Given the description of an element on the screen output the (x, y) to click on. 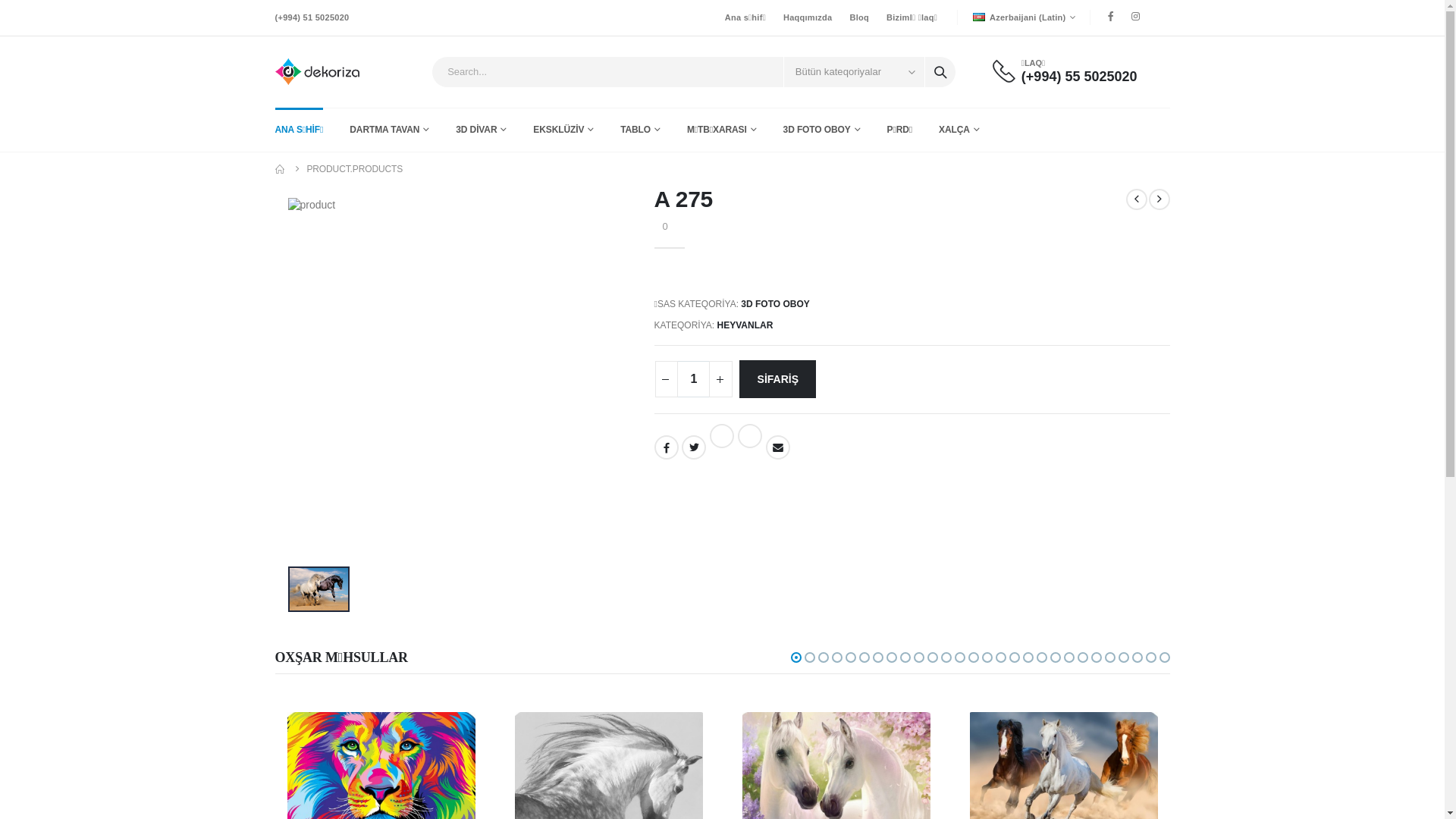
PRODUCT.PRODUCTS Element type: text (354, 168)
(+994) 55 5025020 Element type: text (1079, 76)
Facebook Element type: hover (665, 447)
dot Element type: hover (1041, 657)
dot Element type: hover (1150, 657)
HEYVANLAR Element type: text (745, 325)
0 Element type: text (661, 226)
3D FOTO OBOY Element type: text (774, 303)
dot Element type: hover (1095, 657)
dot Element type: hover (1163, 657)
dot Element type: hover (1068, 657)
dot Element type: hover (1027, 657)
dot Element type: hover (959, 657)
dot Element type: hover (1081, 657)
dot Element type: hover (808, 657)
DARTMA TAVAN Element type: text (389, 129)
dot Element type: hover (931, 657)
dot Element type: hover (849, 657)
dot Element type: hover (890, 657)
search Element type: hover (940, 71)
Mail Element type: hover (777, 447)
dot Element type: hover (1122, 657)
dot Element type: hover (918, 657)
Google + Element type: hover (749, 435)
Bloq Element type: text (859, 17)
dot Element type: hover (822, 657)
Azerbaijani (Latin) Element type: text (1023, 16)
Linkedin Element type: hover (721, 435)
dot Element type: hover (836, 657)
dot Element type: hover (904, 657)
Twitter Element type: hover (693, 447)
3D FOTO OBOY Element type: text (821, 129)
dot Element type: hover (1000, 657)
dot Element type: hover (1136, 657)
dot Element type: hover (877, 657)
dot Element type: hover (863, 657)
dot Element type: hover (1013, 657)
TABLO Element type: text (640, 129)
dot Element type: hover (795, 657)
dot Element type: hover (986, 657)
dot Element type: hover (945, 657)
dot Element type: hover (972, 657)
dot Element type: hover (1109, 657)
dot Element type: hover (1054, 657)
